Given the description of an element on the screen output the (x, y) to click on. 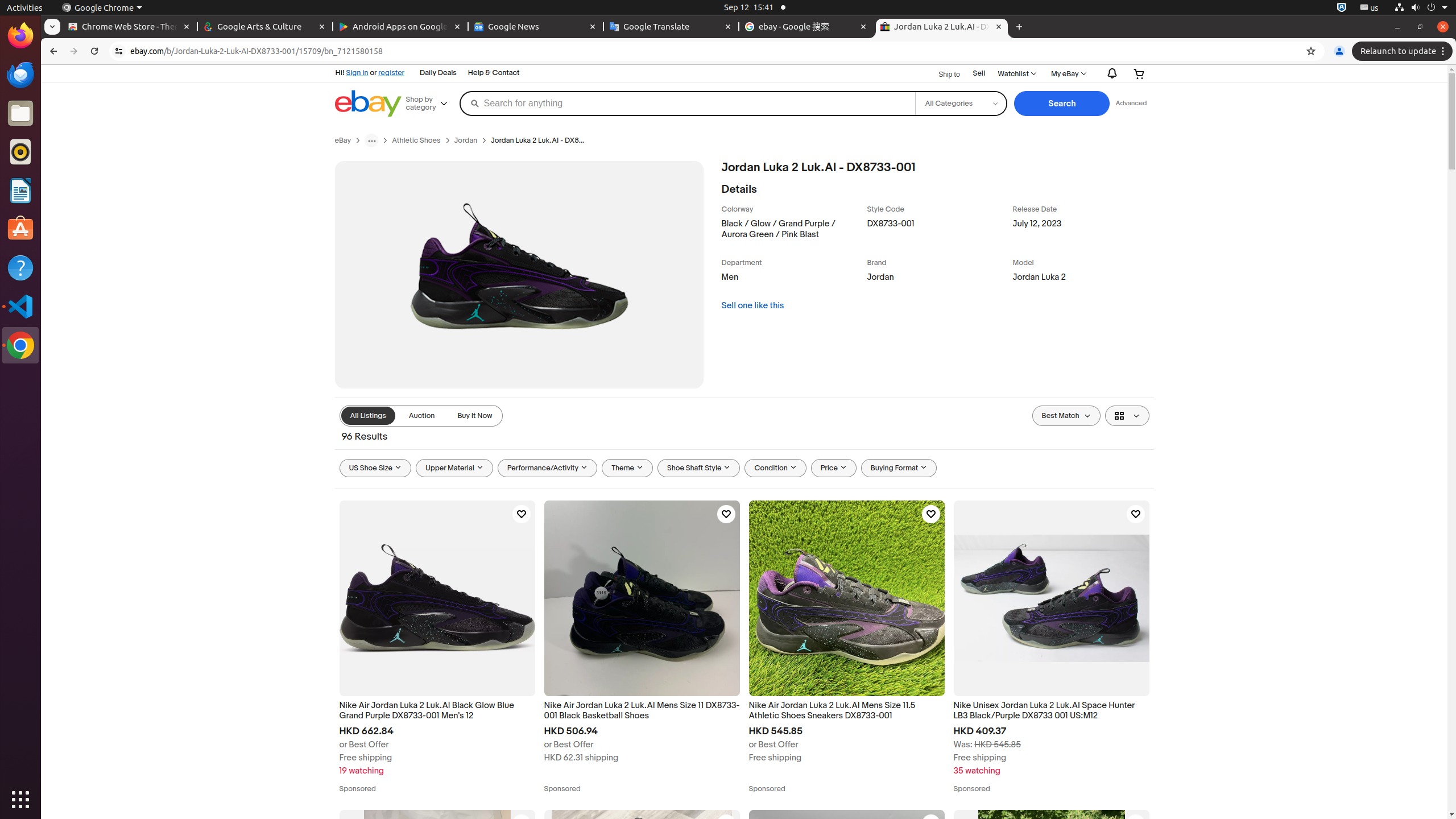
Notifications Element type: push-button (1109, 73)
Nike Unisex Jordan Luka 2 Luk.AI Space Hunter LB3 Black/Purple DX8733 001 US:M12 Element type: link (1051, 710)
Click to watch item - Nike Air Jordan Luka 2 Luk.Al Black Glow Blue Grand Purple DX8733-001 Men's 12 Element type: push-button (520, 514)
Jordan Element type: table-cell (937, 279)
Google Chrome Element type: menu (101, 7)
